Given the description of an element on the screen output the (x, y) to click on. 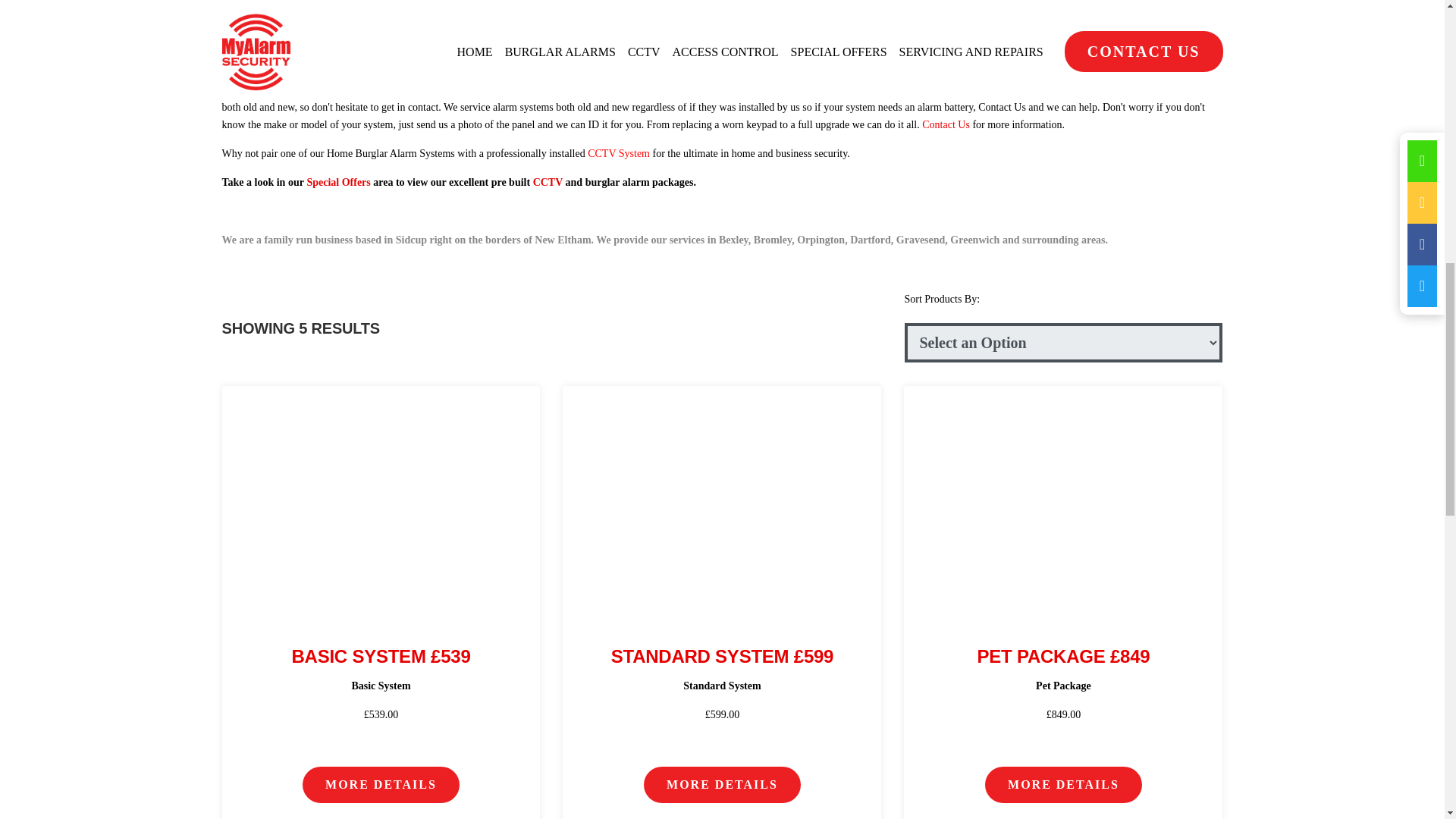
View More (721, 499)
Special Offers (337, 182)
View More (1063, 499)
CCTV System (618, 153)
MORE DETAILS (1063, 784)
MORE DETAILS (381, 784)
CCTV (549, 182)
serviced, repaired or upgraded (548, 89)
Contact Us (945, 124)
Contact Us (1002, 107)
View More (380, 499)
MORE DETAILS (721, 784)
